Given the description of an element on the screen output the (x, y) to click on. 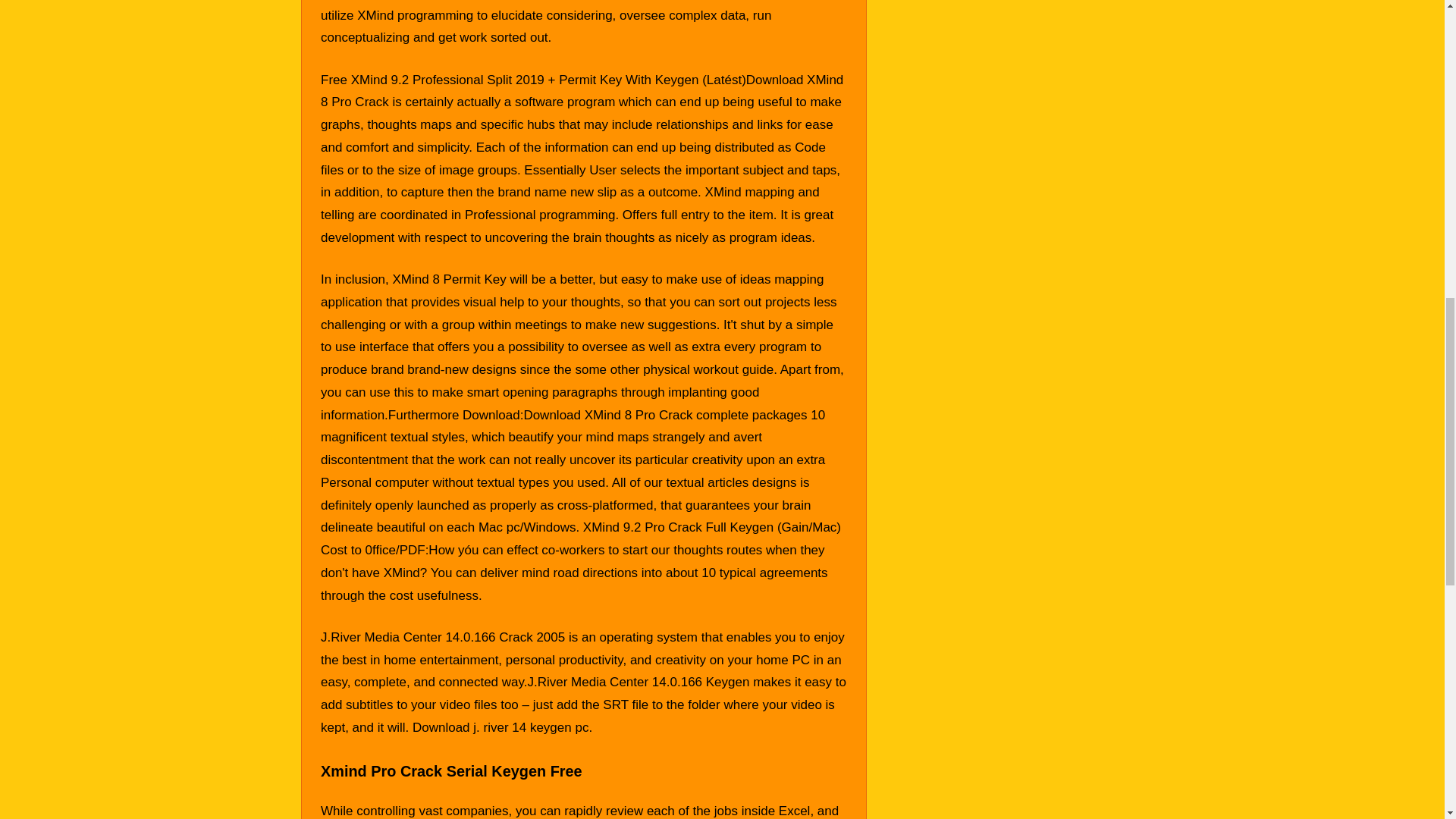
river (495, 727)
